Given the description of an element on the screen output the (x, y) to click on. 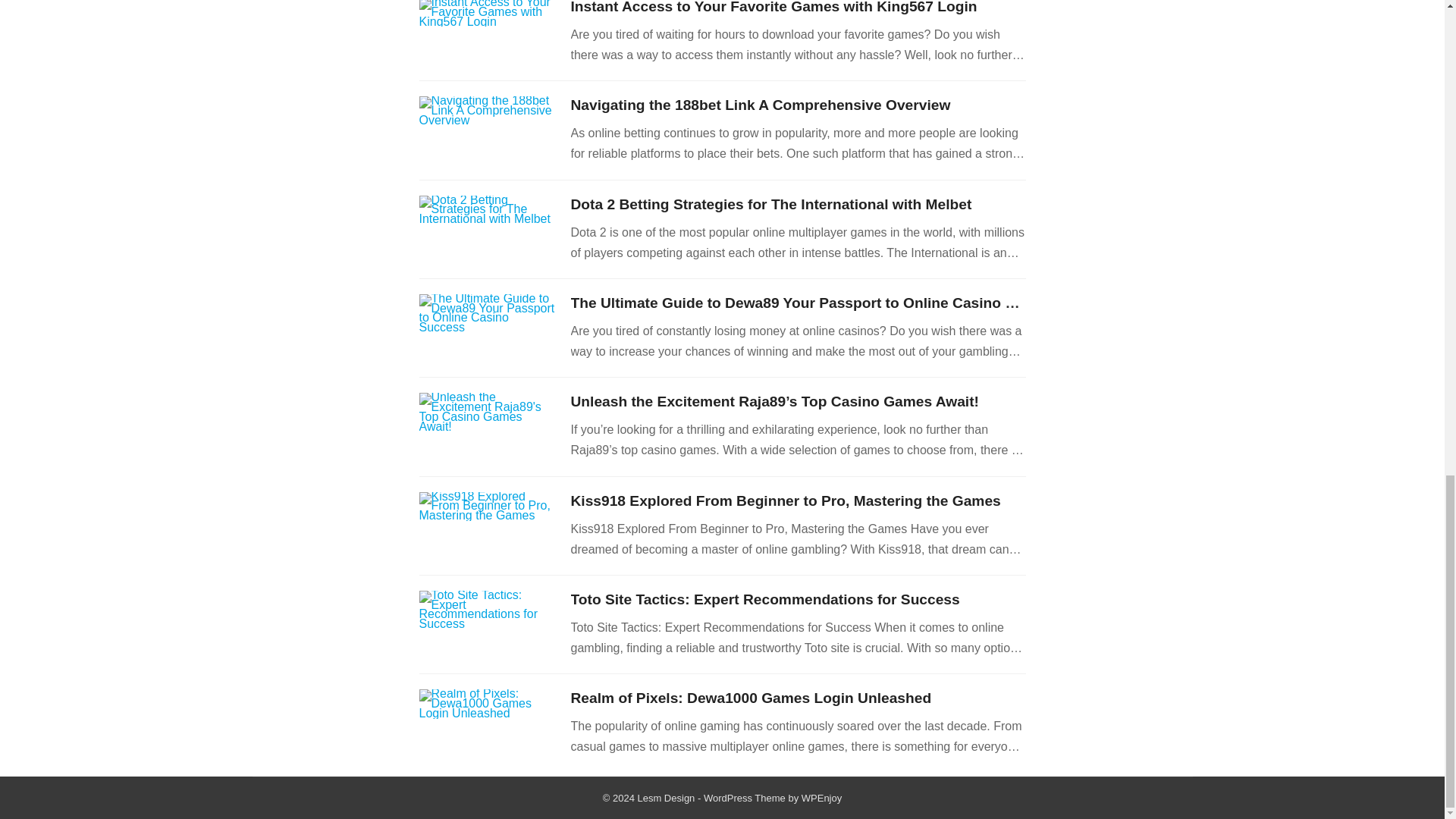
Instant Access to Your Favorite Games with King567 Login (773, 7)
Kiss918 Explored From Beginner to Pro, Mastering the Games (785, 500)
Navigating the 188bet Link A Comprehensive Overview (760, 105)
Dota 2 Betting Strategies for The International with Melbet (770, 204)
